Given the description of an element on the screen output the (x, y) to click on. 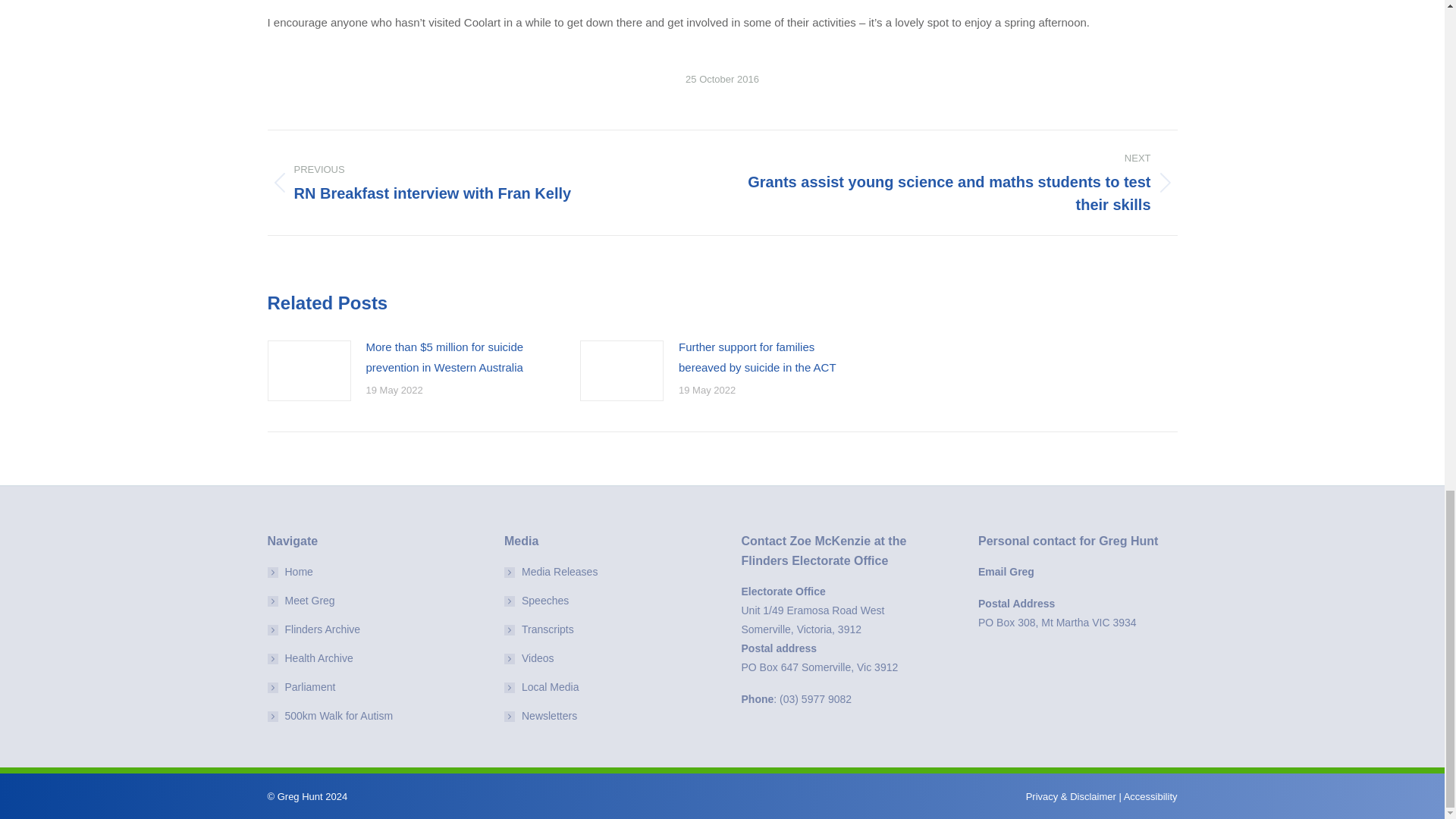
12:00 am (721, 78)
